Given the description of an element on the screen output the (x, y) to click on. 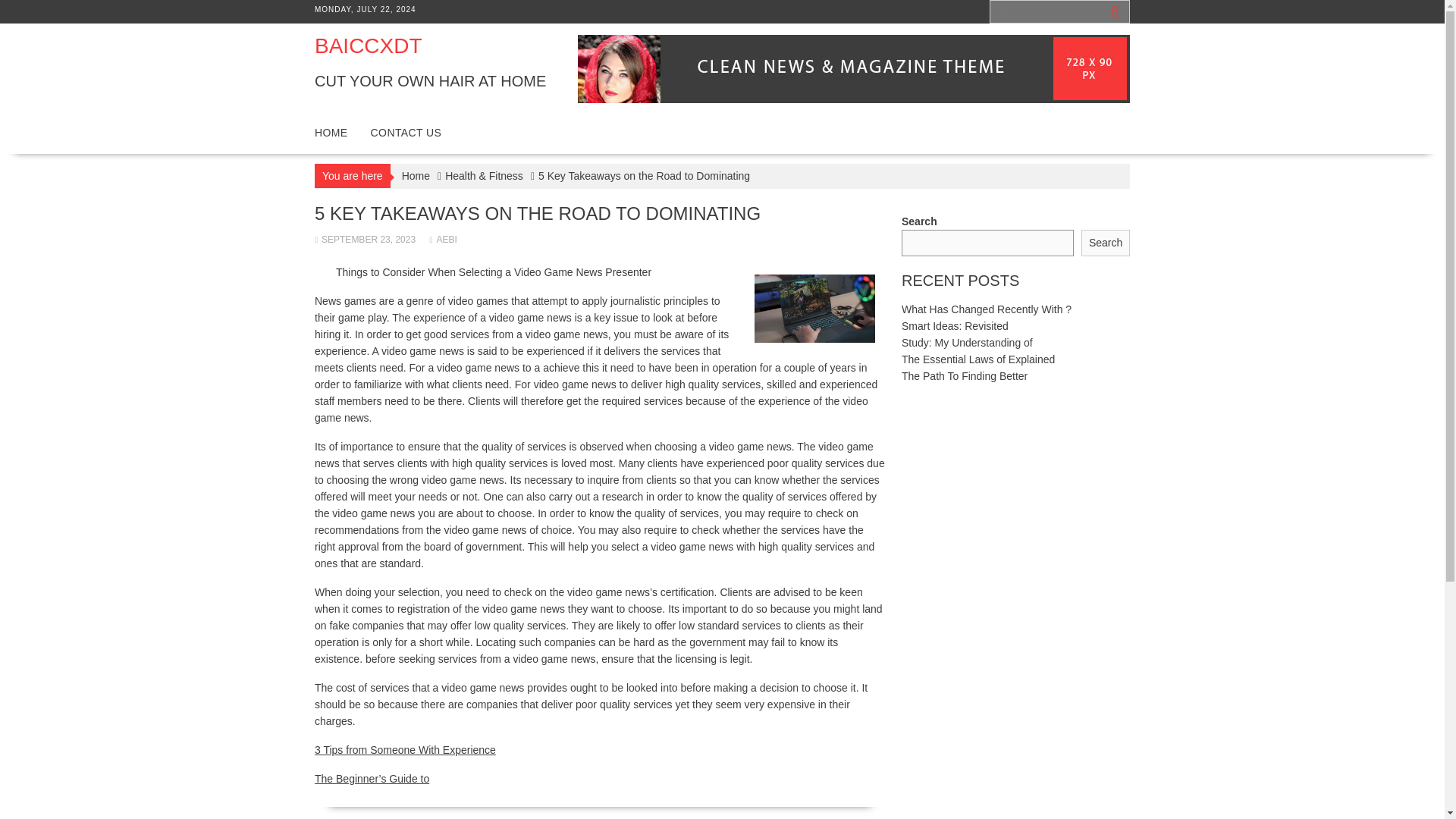
What Has Changed Recently With ? (986, 309)
AEBI (443, 239)
The Path To Finding Better (964, 376)
3 Tips from Someone With Experience (405, 749)
HOME (330, 132)
Study: My Understanding of (966, 342)
BAICCXDT (368, 45)
Search (1105, 243)
CONTACT US (405, 132)
The Essential Laws of Explained (977, 358)
SEPTEMBER 23, 2023 (364, 239)
Home (415, 175)
Smart Ideas: Revisited (955, 326)
